Given the description of an element on the screen output the (x, y) to click on. 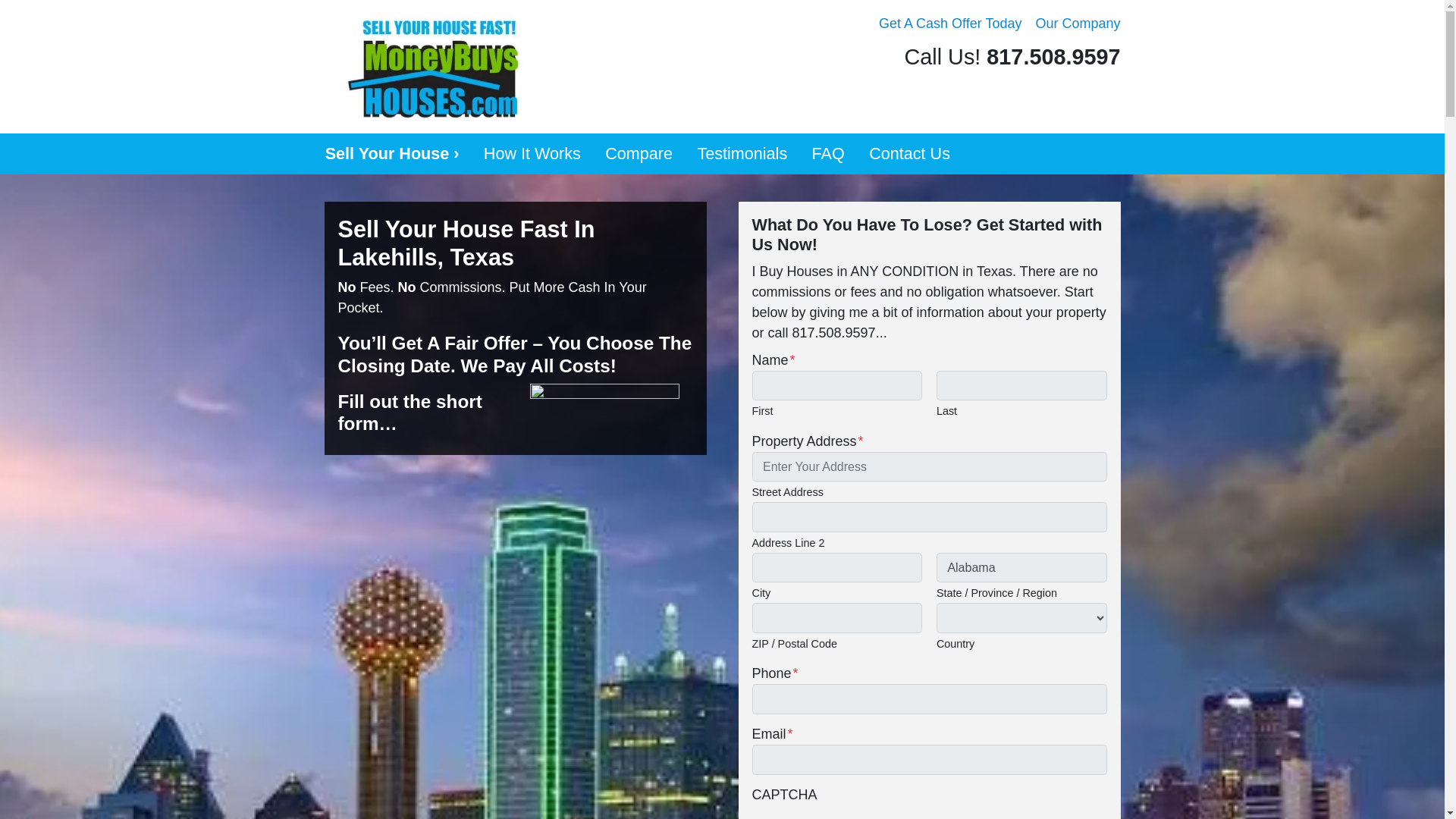
Our Company (1076, 23)
Get A Cash Offer Today (949, 23)
Compare (638, 153)
Testimonials (741, 153)
Compare (638, 153)
Contact Us (909, 153)
Contact Us (909, 153)
FAQ (828, 153)
How It Works (531, 153)
Testimonials (741, 153)
FAQ (828, 153)
Alabama (1021, 567)
How It Works (531, 153)
